Given the description of an element on the screen output the (x, y) to click on. 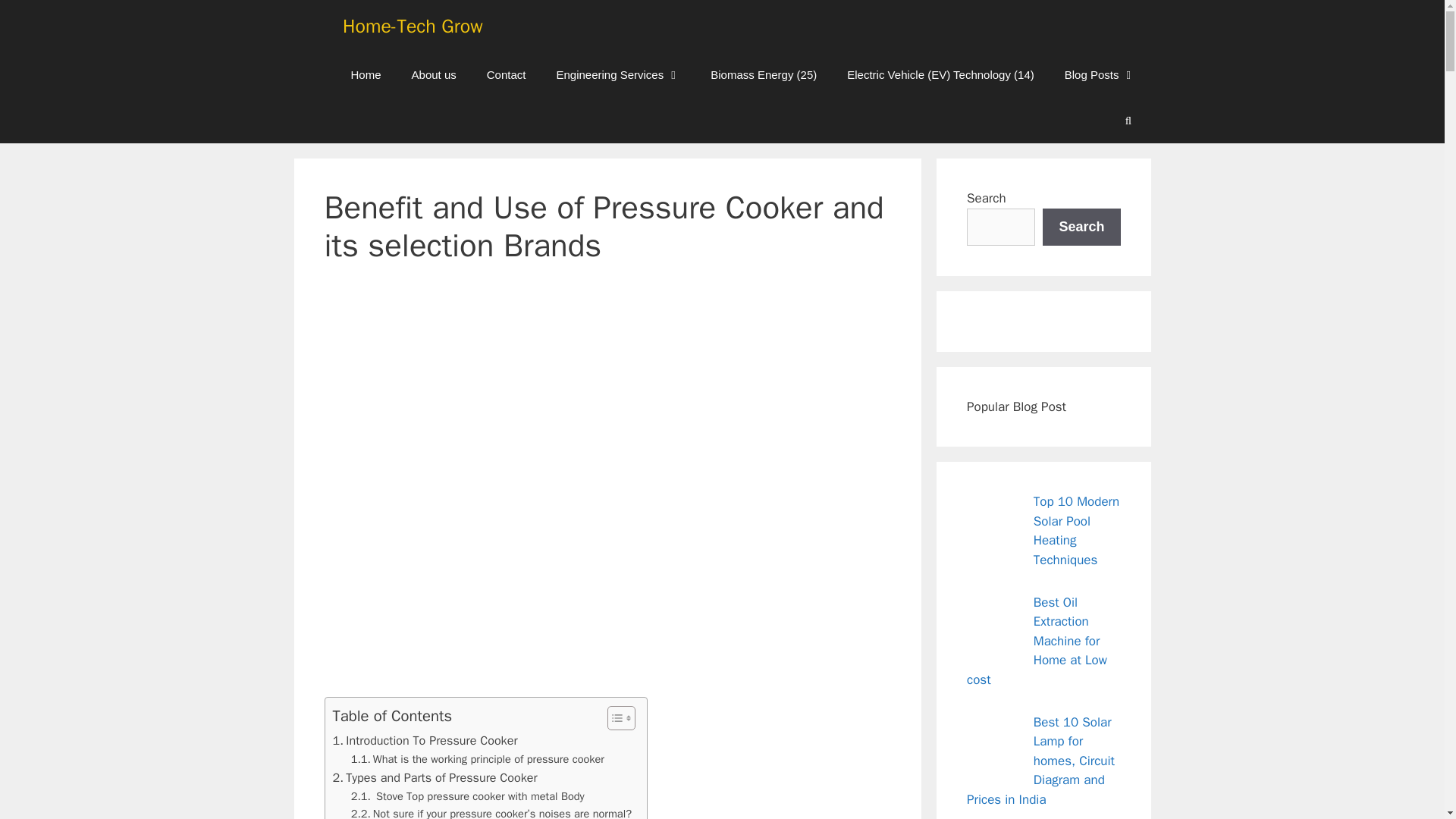
Contact (506, 74)
Blog Posts (1100, 74)
Types and Parts of Pressure Cooker (434, 777)
Engineering Services (617, 74)
Home-Tech Grow (412, 26)
About us (433, 74)
What is the working principle of pressure cooker (477, 759)
 Stove Top pressure cooker with metal Body (467, 796)
Introduction To Pressure Cooker (423, 741)
